Given the description of an element on the screen output the (x, y) to click on. 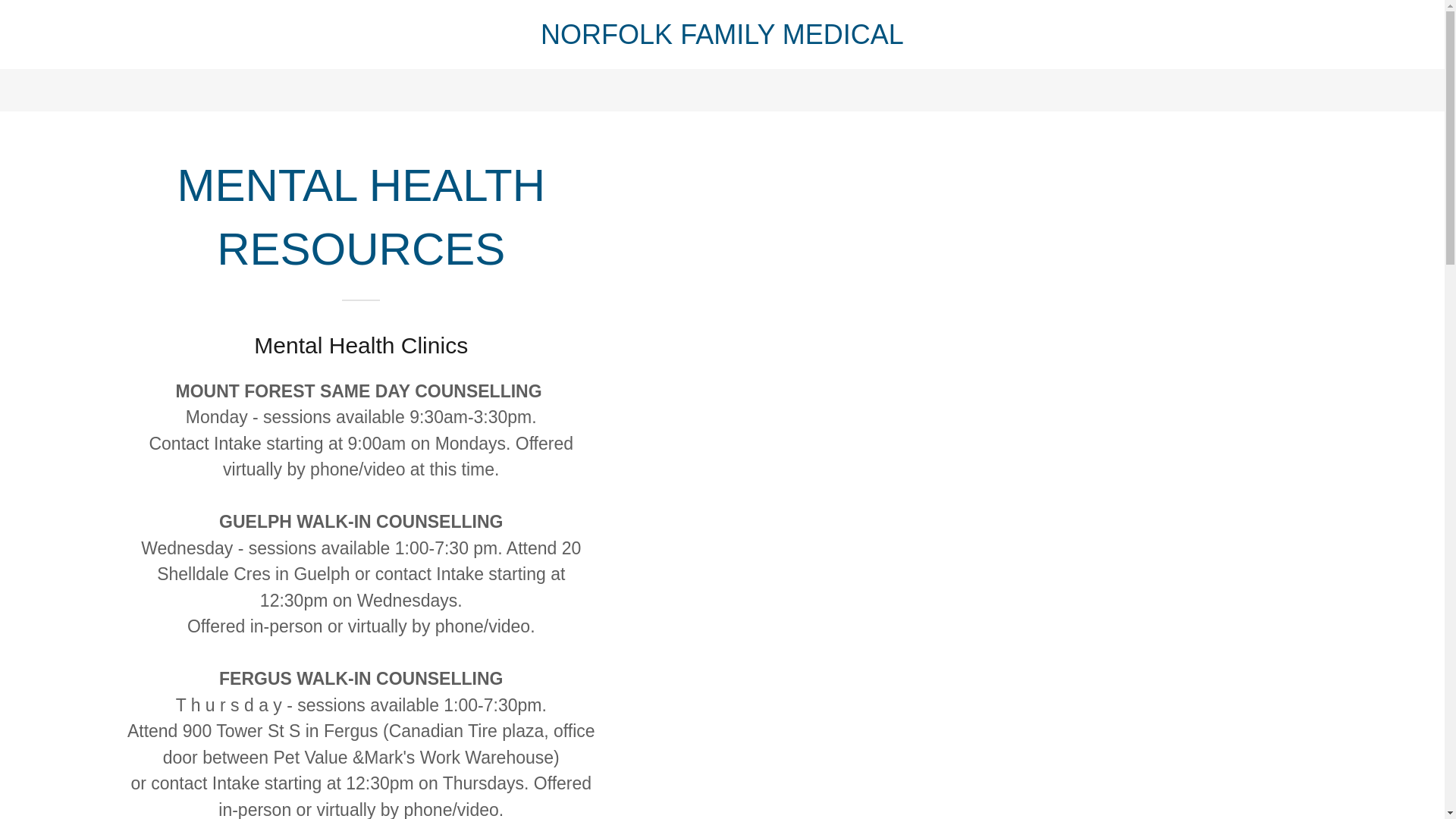
NORFOLK FAMILY MEDICAL (721, 37)
Norfolk Family Medical (721, 37)
